Given the description of an element on the screen output the (x, y) to click on. 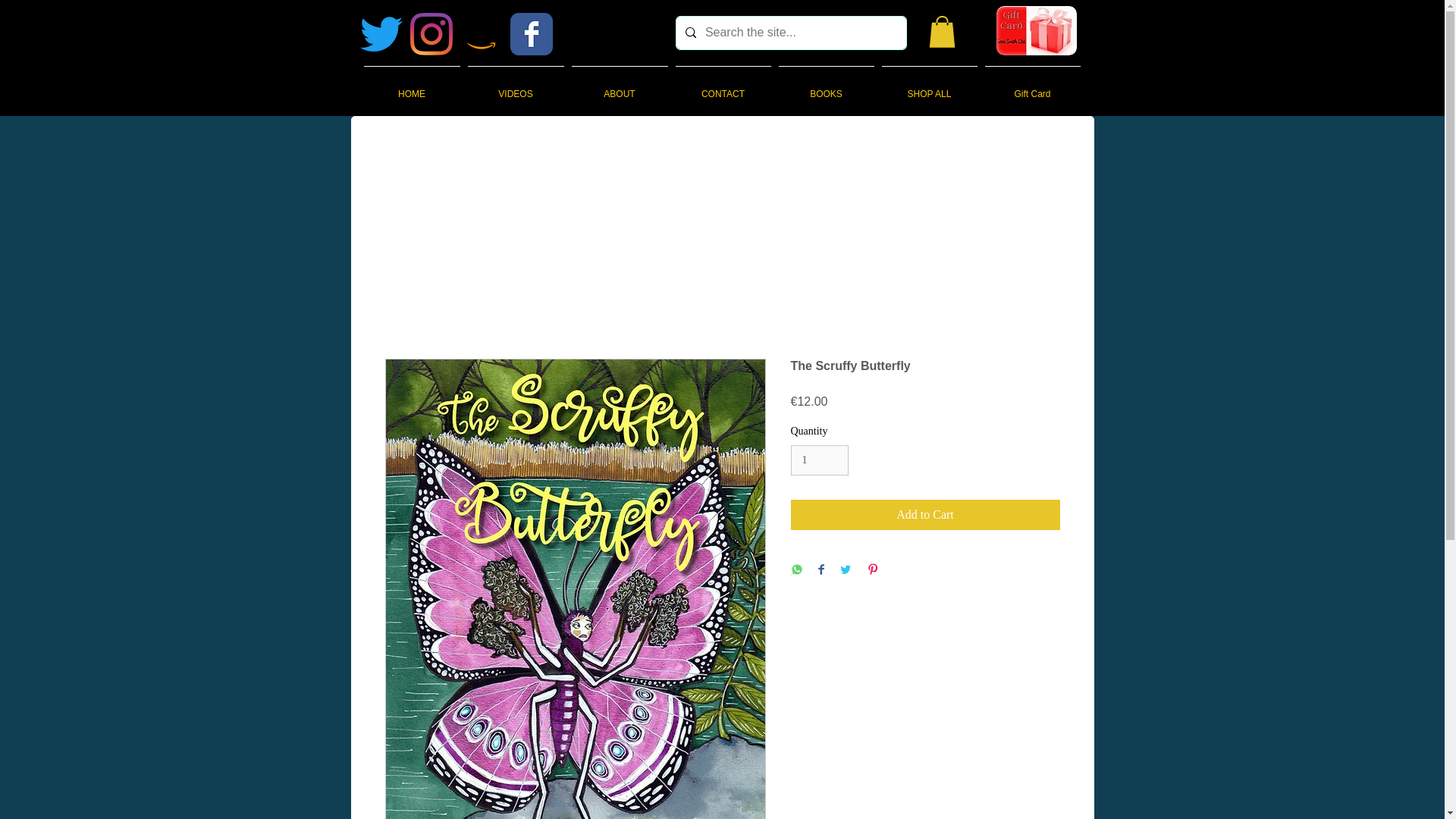
BOOKS (825, 87)
CONTACT (722, 87)
Add to Cart (924, 514)
Gift Card (1032, 87)
ABOUT (619, 87)
1 (818, 460)
VIDEOS (515, 87)
HOME (411, 87)
SHOP ALL (929, 87)
